Given the description of an element on the screen output the (x, y) to click on. 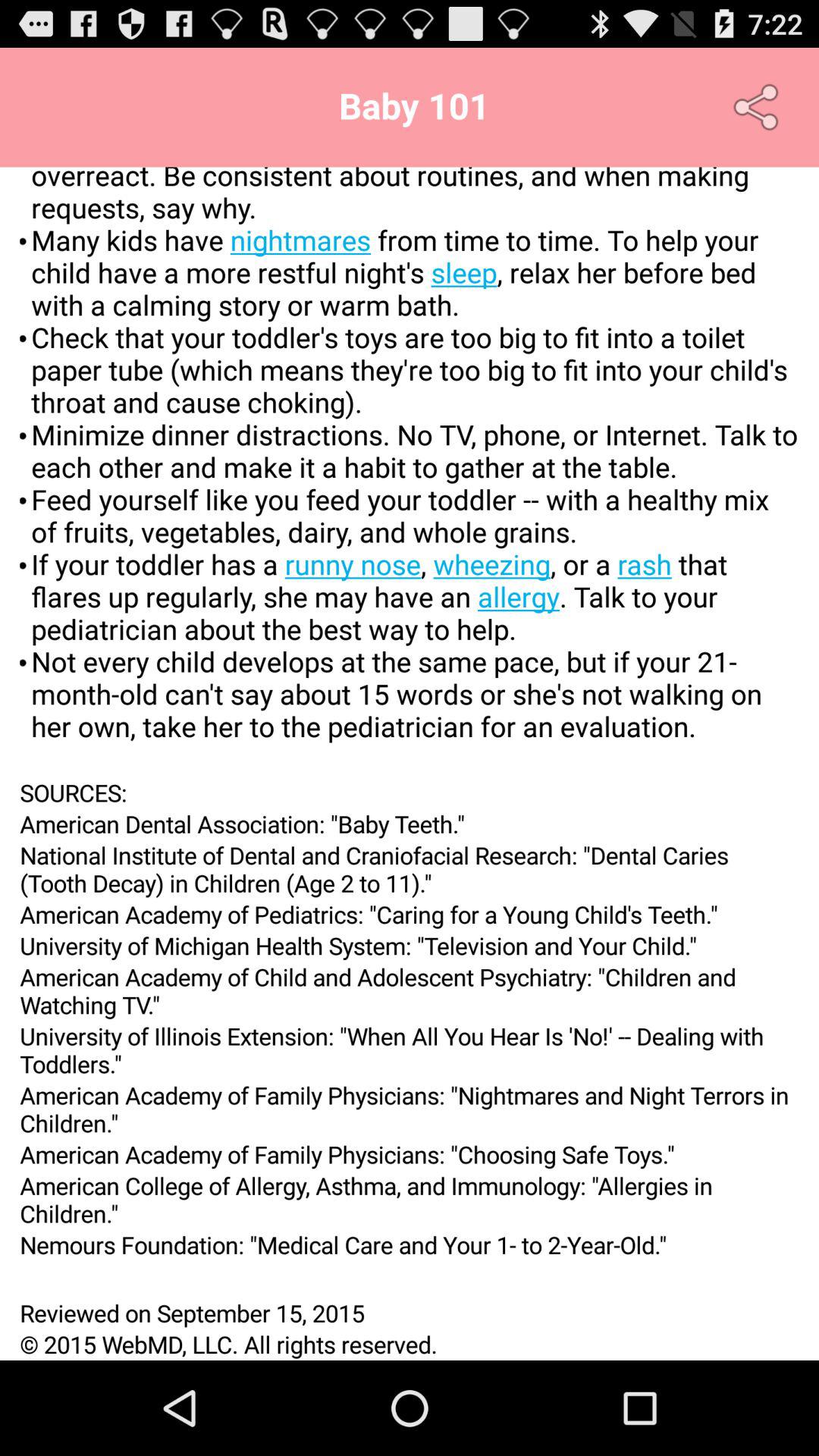
open the sources: item (409, 792)
